Given the description of an element on the screen output the (x, y) to click on. 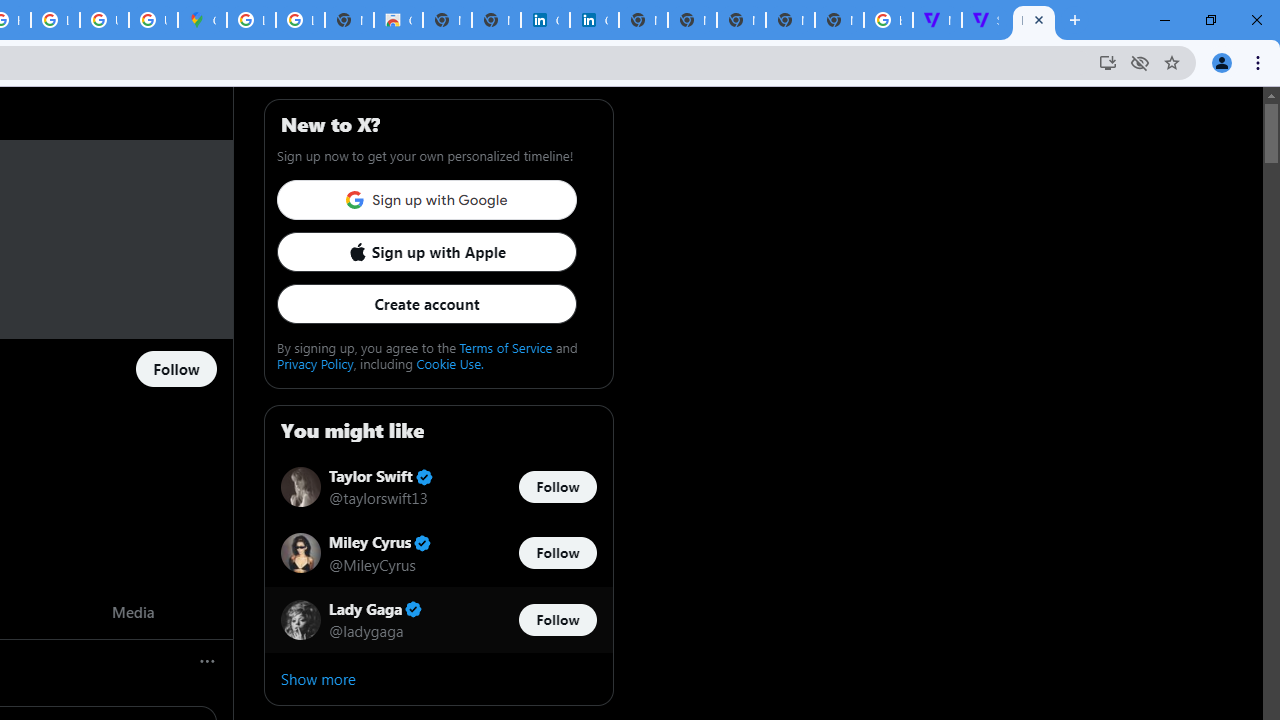
Verified account (413, 609)
@MileyCyrus (372, 564)
Media (132, 611)
Miley Cyrus Verified account @MileyCyrus Follow @MileyCyrus (438, 552)
Minimize (1165, 20)
More (207, 660)
Bruno Mars (@BrunoMars) / X (1033, 20)
New Tab (1075, 20)
Close (1039, 19)
Follow @ladygaga (557, 619)
Sign up with Apple (426, 251)
Follow @MileyCyrus (557, 553)
Third-party cookies blocked (1139, 62)
Show more (438, 678)
